Given the description of an element on the screen output the (x, y) to click on. 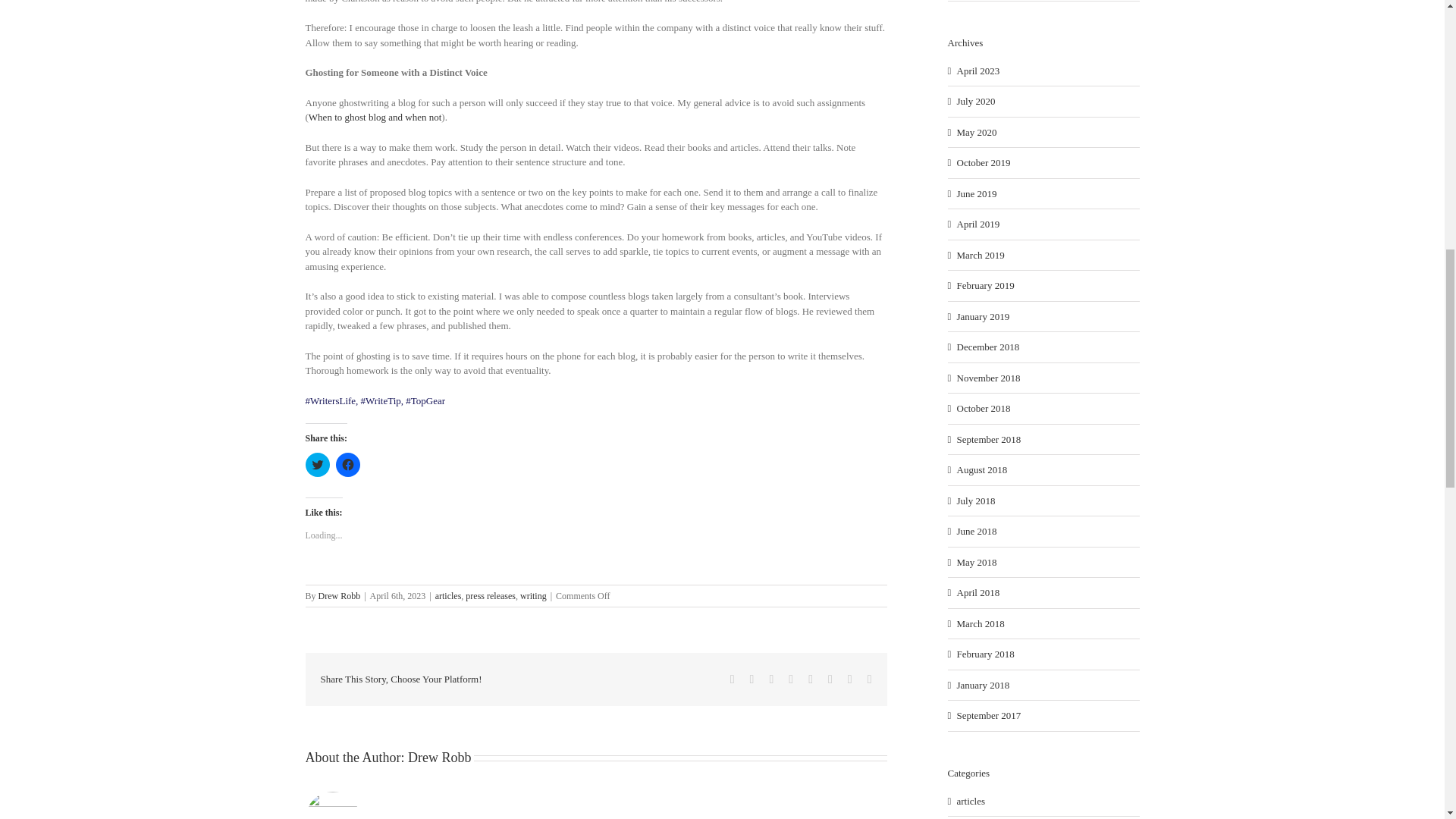
writing (533, 595)
Click to share on Twitter (316, 464)
Drew Robb (439, 757)
press releases (490, 595)
When to ghost blog and when not (374, 116)
Posts by Drew Robb (339, 595)
articles (448, 595)
Click to share on Facebook (346, 464)
Drew Robb (339, 595)
